Given the description of an element on the screen output the (x, y) to click on. 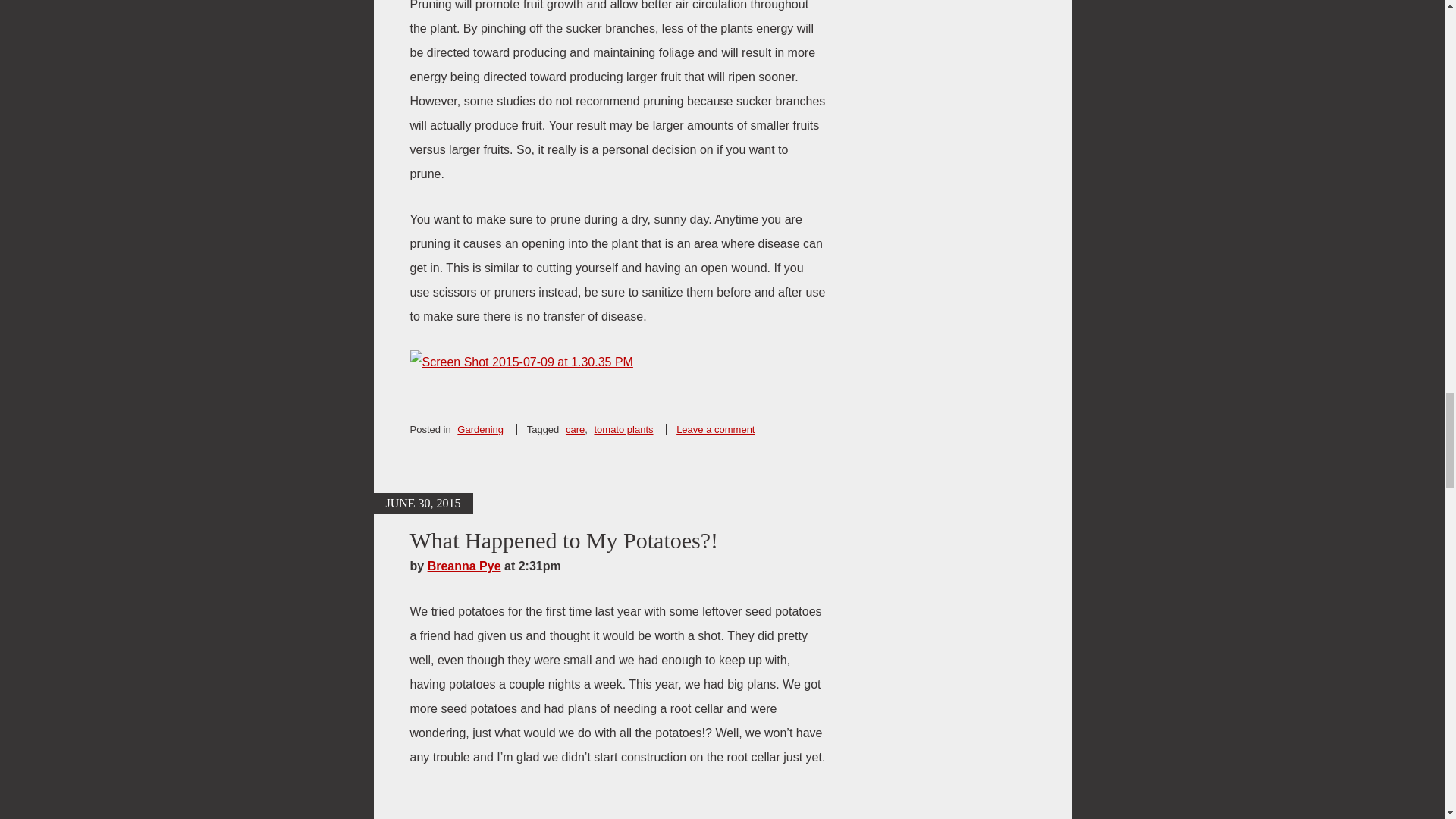
View all posts by Breanna Pye (464, 565)
Gardening (480, 429)
tomato plants (623, 429)
care (575, 429)
Leave a comment (715, 429)
